Given the description of an element on the screen output the (x, y) to click on. 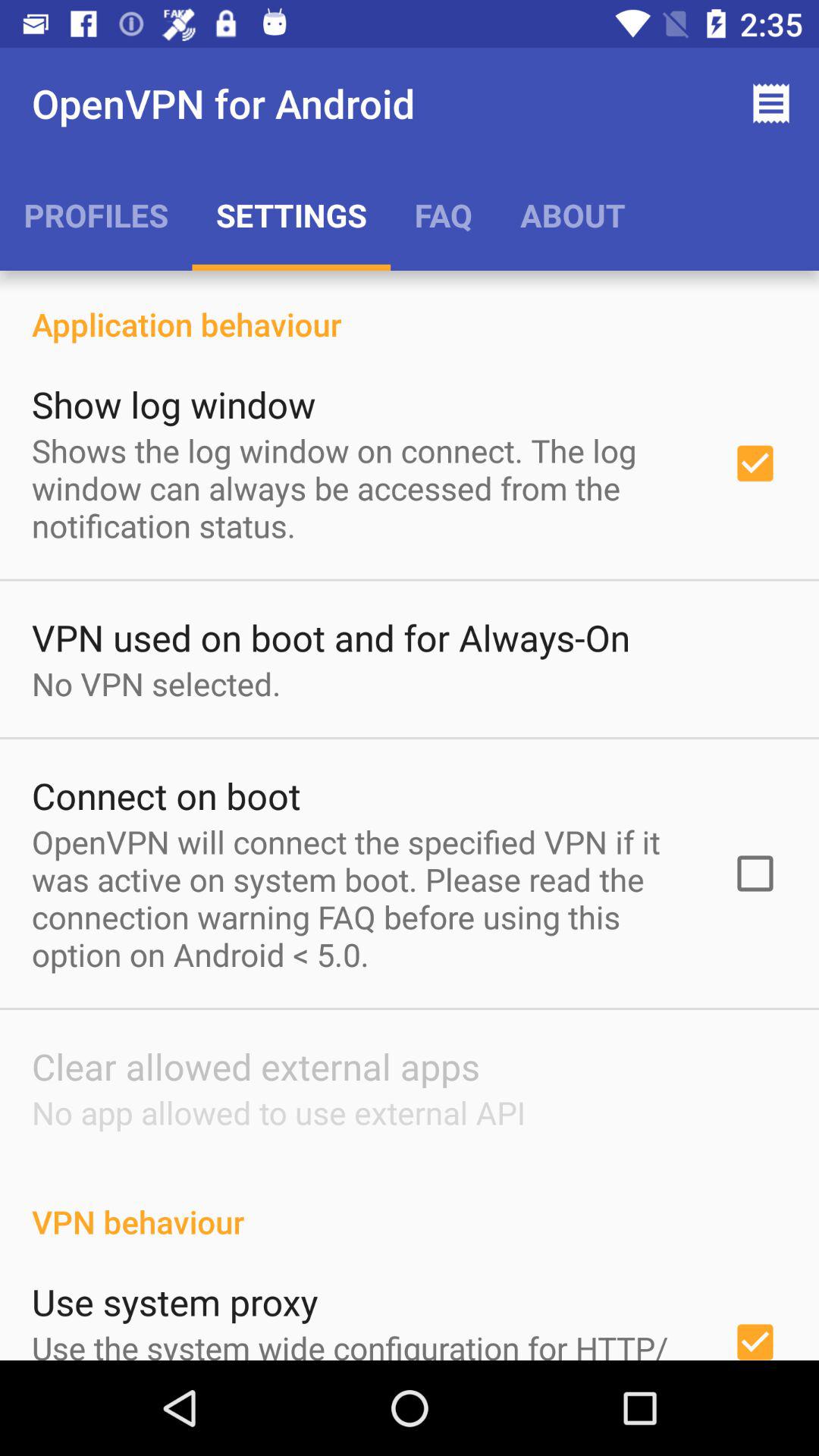
choose icon above clear allowed external item (361, 897)
